Given the description of an element on the screen output the (x, y) to click on. 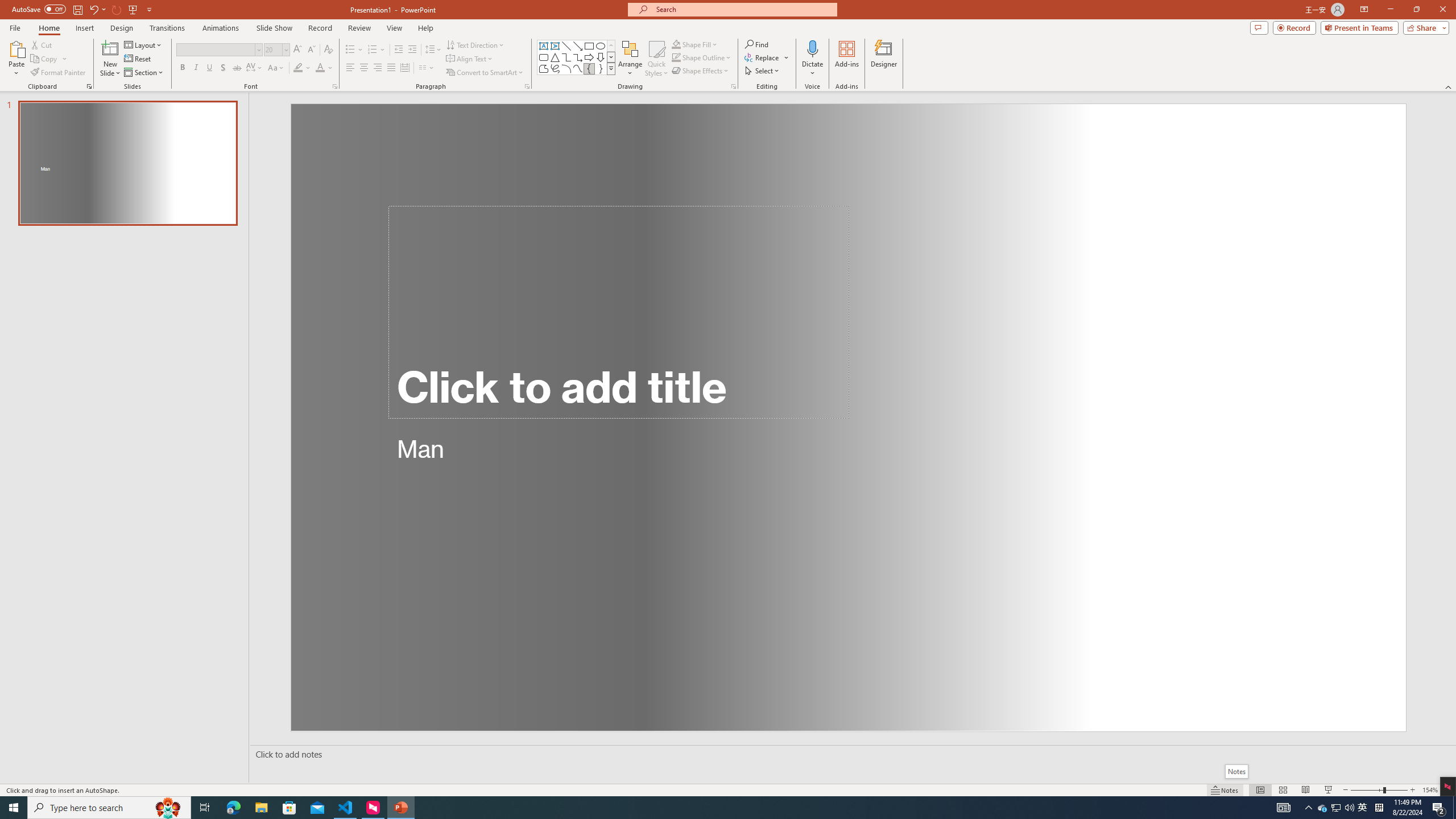
Cut (42, 44)
Shadow (223, 67)
Select (762, 69)
AutomationID: ShapesInsertGallery (576, 57)
